Given the description of an element on the screen output the (x, y) to click on. 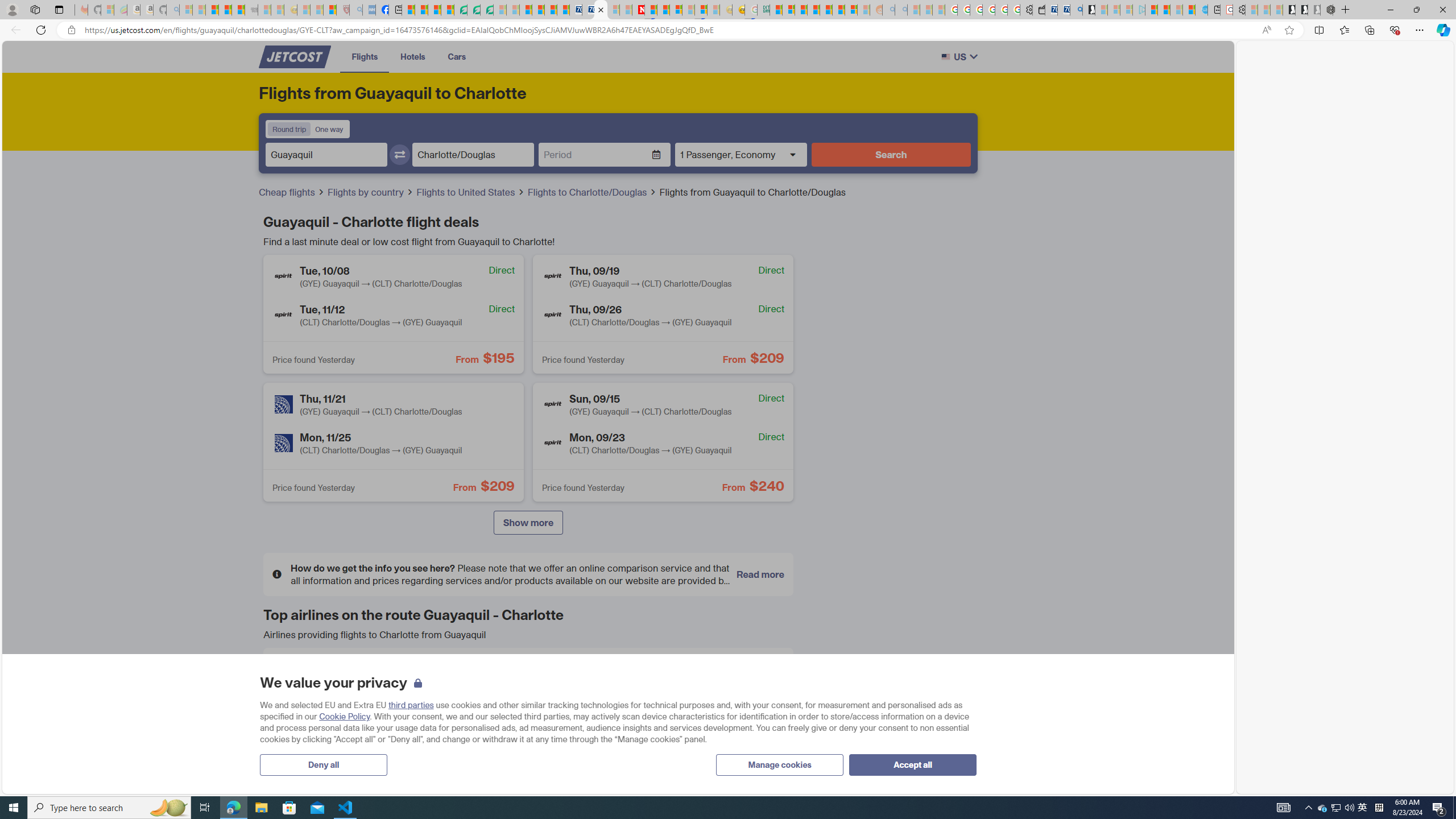
Personal Profile (12, 9)
Deny all (323, 764)
Robert H. Shmerling, MD - Harvard Health - Sleeping (342, 9)
Avianca Avianca (528, 675)
The Weather Channel - MSN (212, 9)
Flights to Charlotte/Douglas (588, 191)
American Airlines (290, 674)
Play Free Online Games | Games from Microsoft Start (1289, 9)
Microsoft Start Gaming (1088, 9)
